Given the description of an element on the screen output the (x, y) to click on. 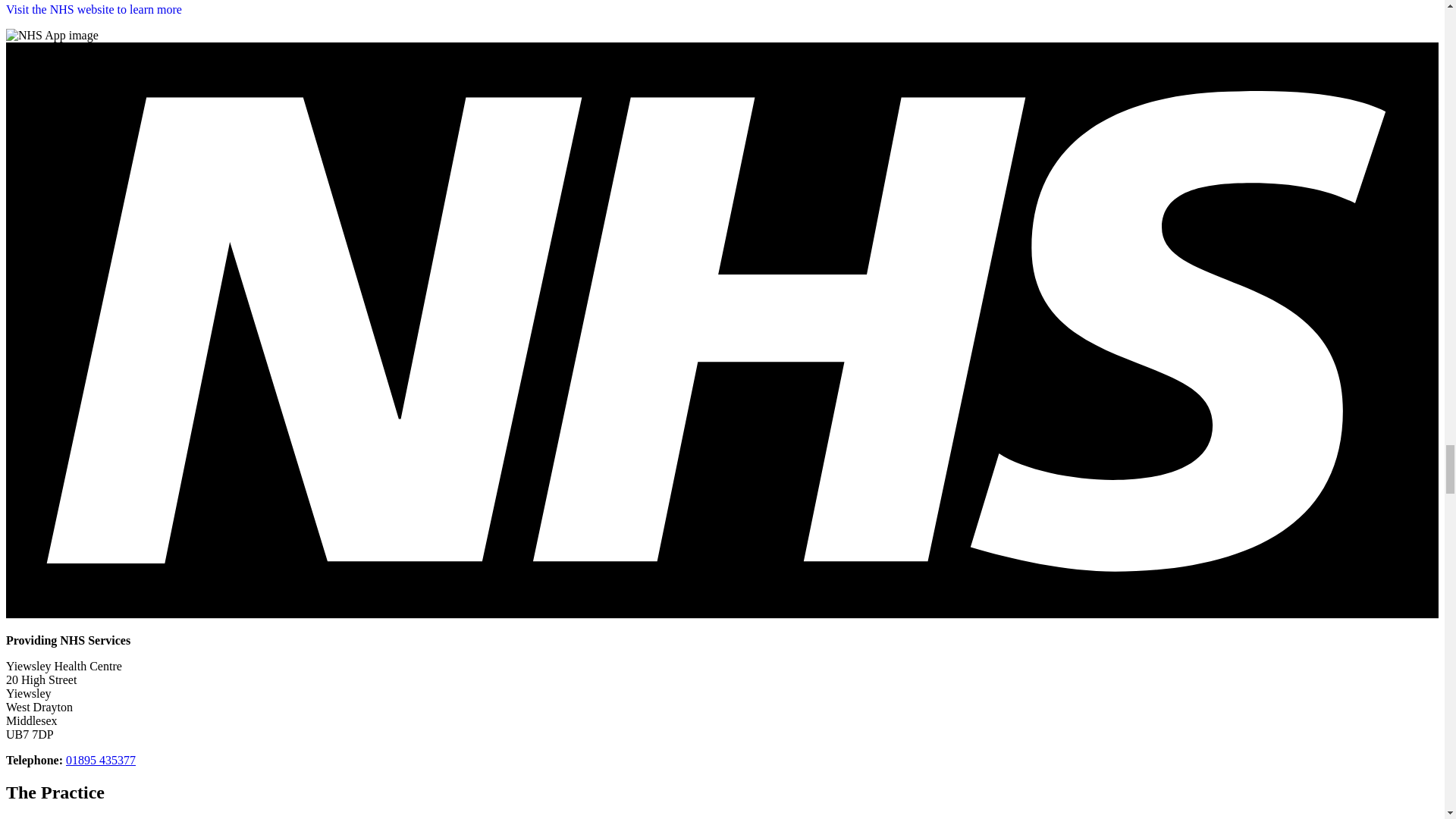
Visit the NHS website to learn more (93, 9)
01895 435377 (100, 759)
